Given the description of an element on the screen output the (x, y) to click on. 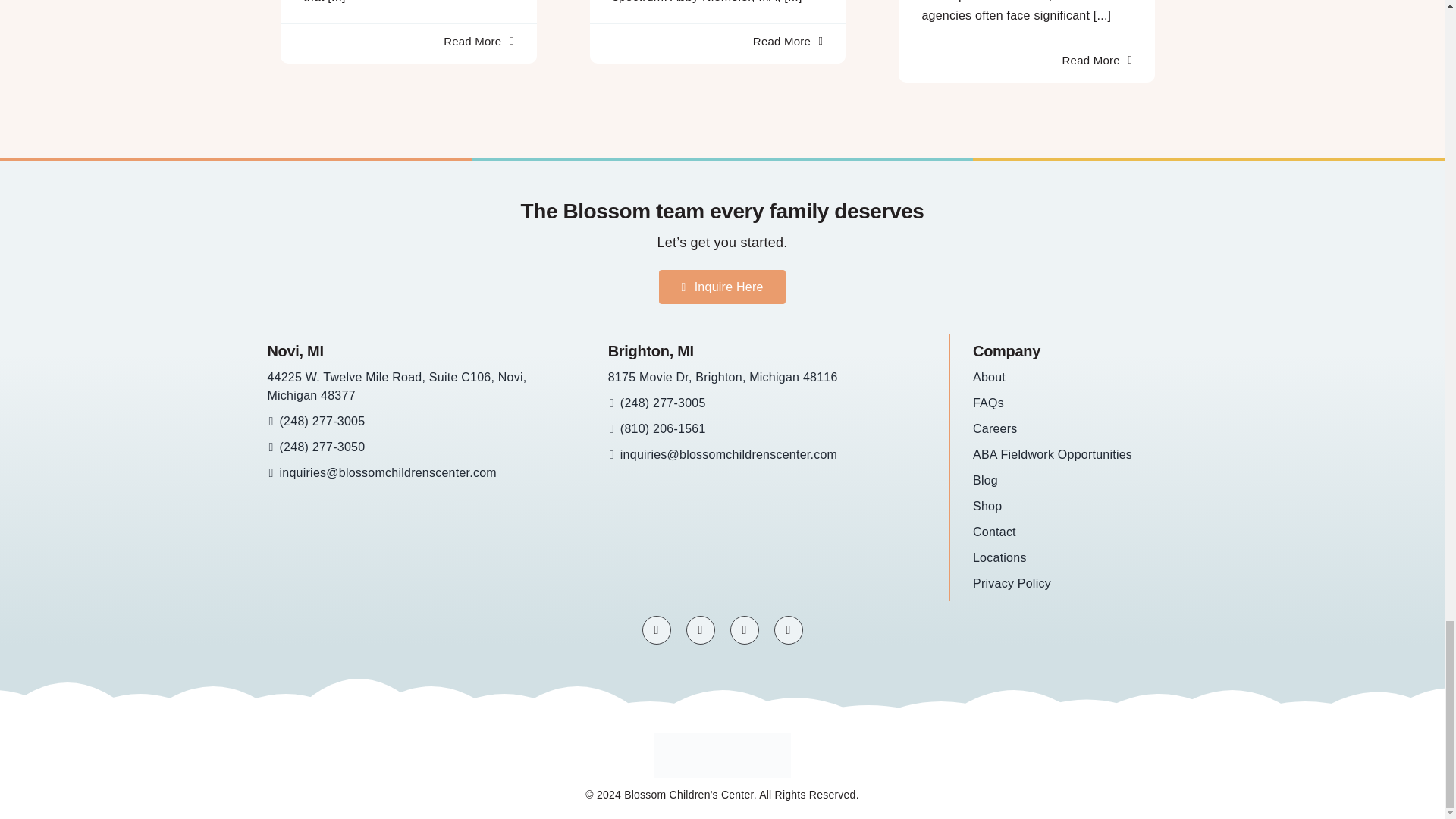
Tiktok (743, 629)
Instagram (699, 629)
Facebook (655, 629)
